Given the description of an element on the screen output the (x, y) to click on. 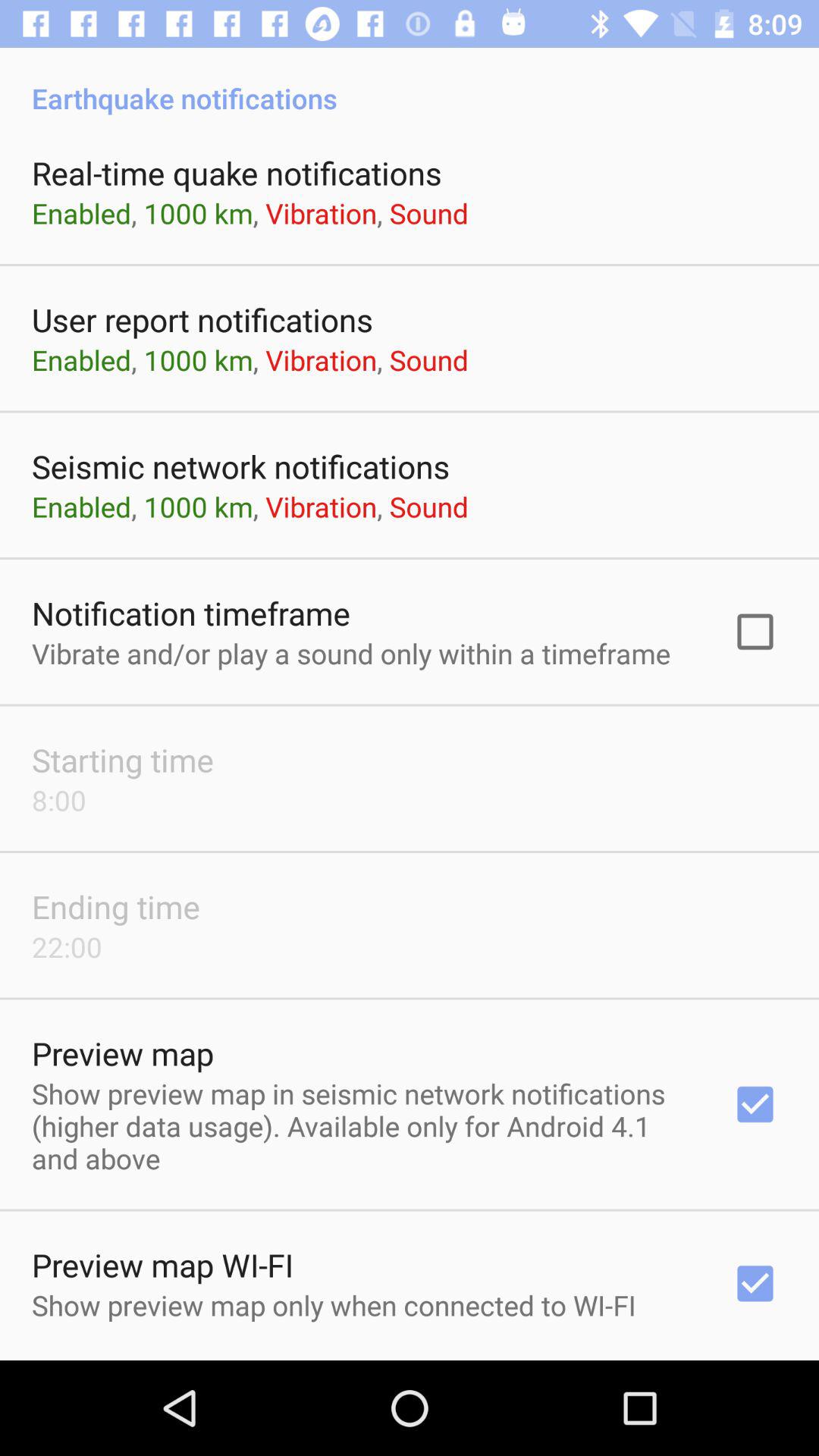
swipe until vibrate and or app (350, 653)
